Given the description of an element on the screen output the (x, y) to click on. 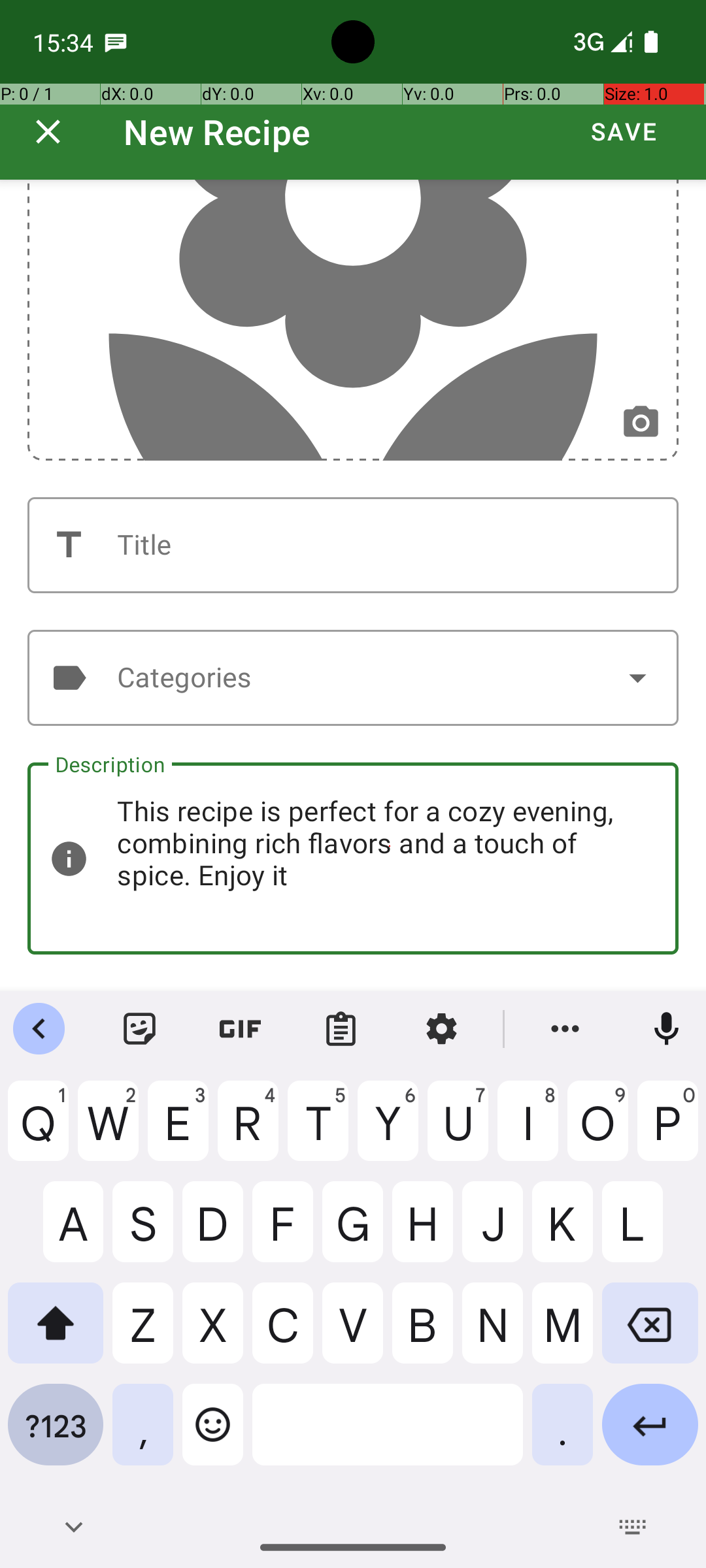
Change photo Element type: android.widget.ImageView (640, 422)
Title Element type: android.widget.EditText (352, 545)
This recipe is perfect for a cozy evening, combining rich flavors and a touch of spice. Enjoy it
 Element type: android.widget.EditText (352, 858)
